Given the description of an element on the screen output the (x, y) to click on. 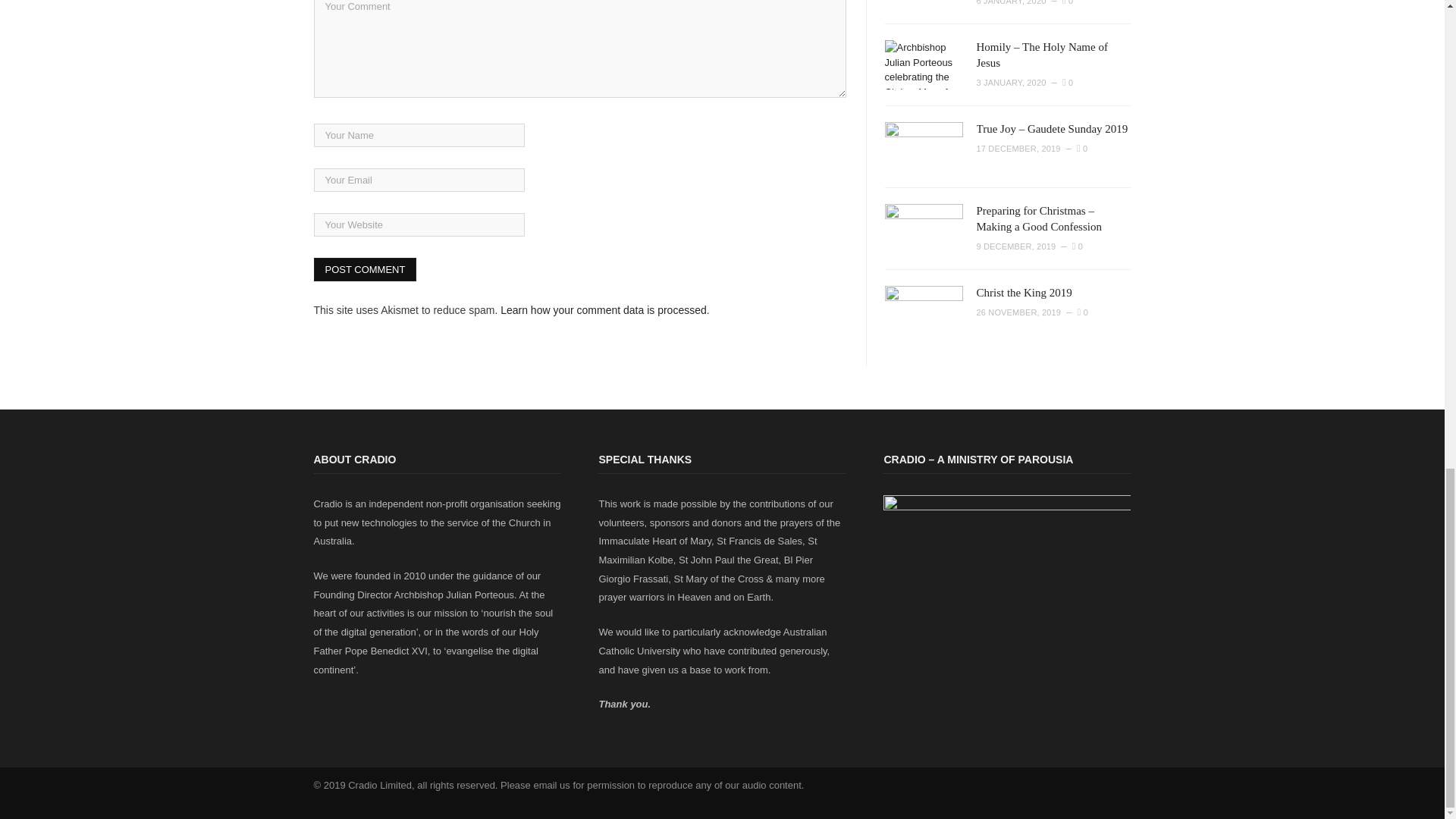
Post Comment (365, 269)
